Given the description of an element on the screen output the (x, y) to click on. 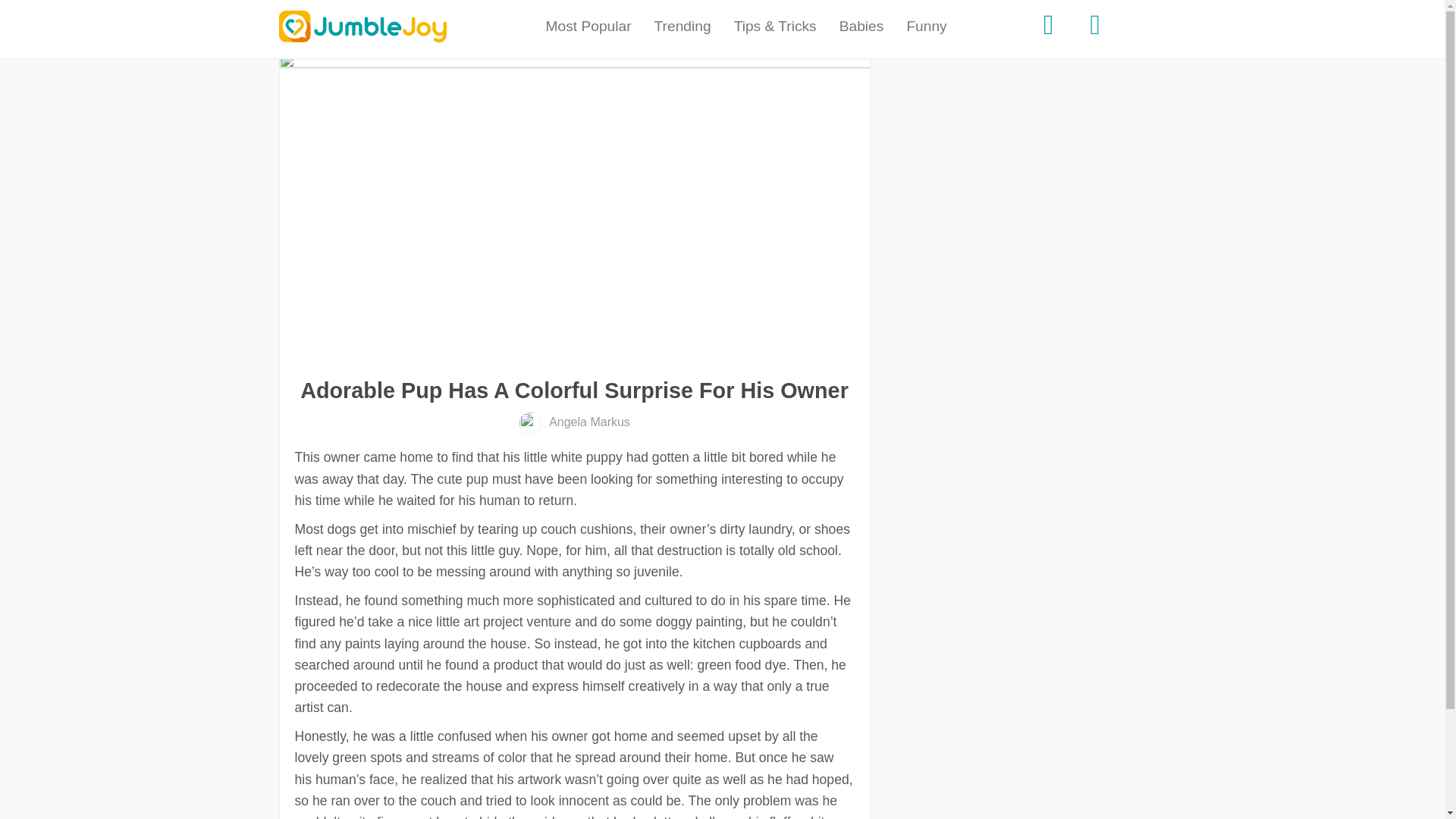
Trending (682, 26)
Babies (861, 26)
Funny (926, 26)
Most Popular (588, 26)
